Given the description of an element on the screen output the (x, y) to click on. 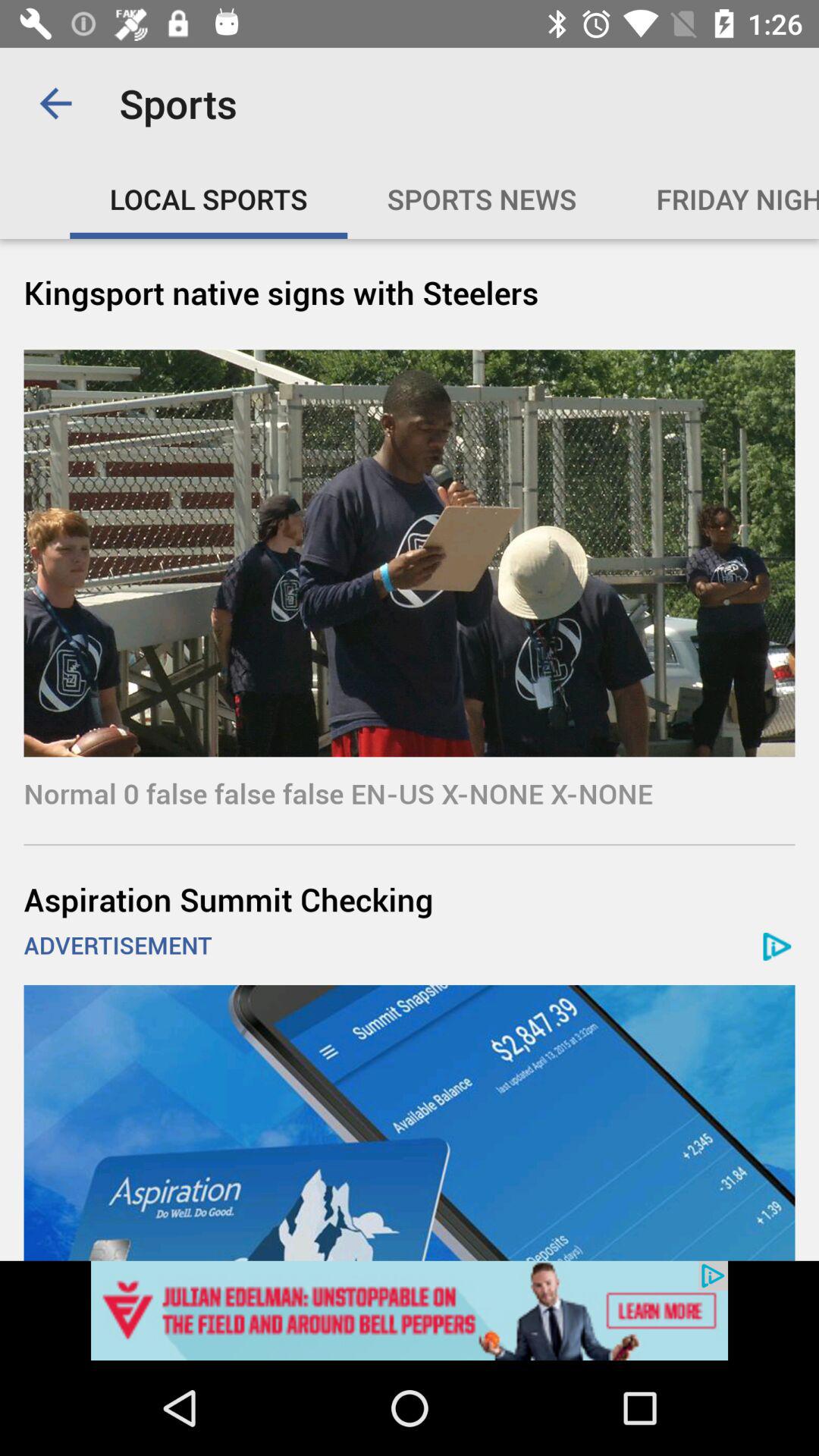
this option advertisement (409, 1122)
